Given the description of an element on the screen output the (x, y) to click on. 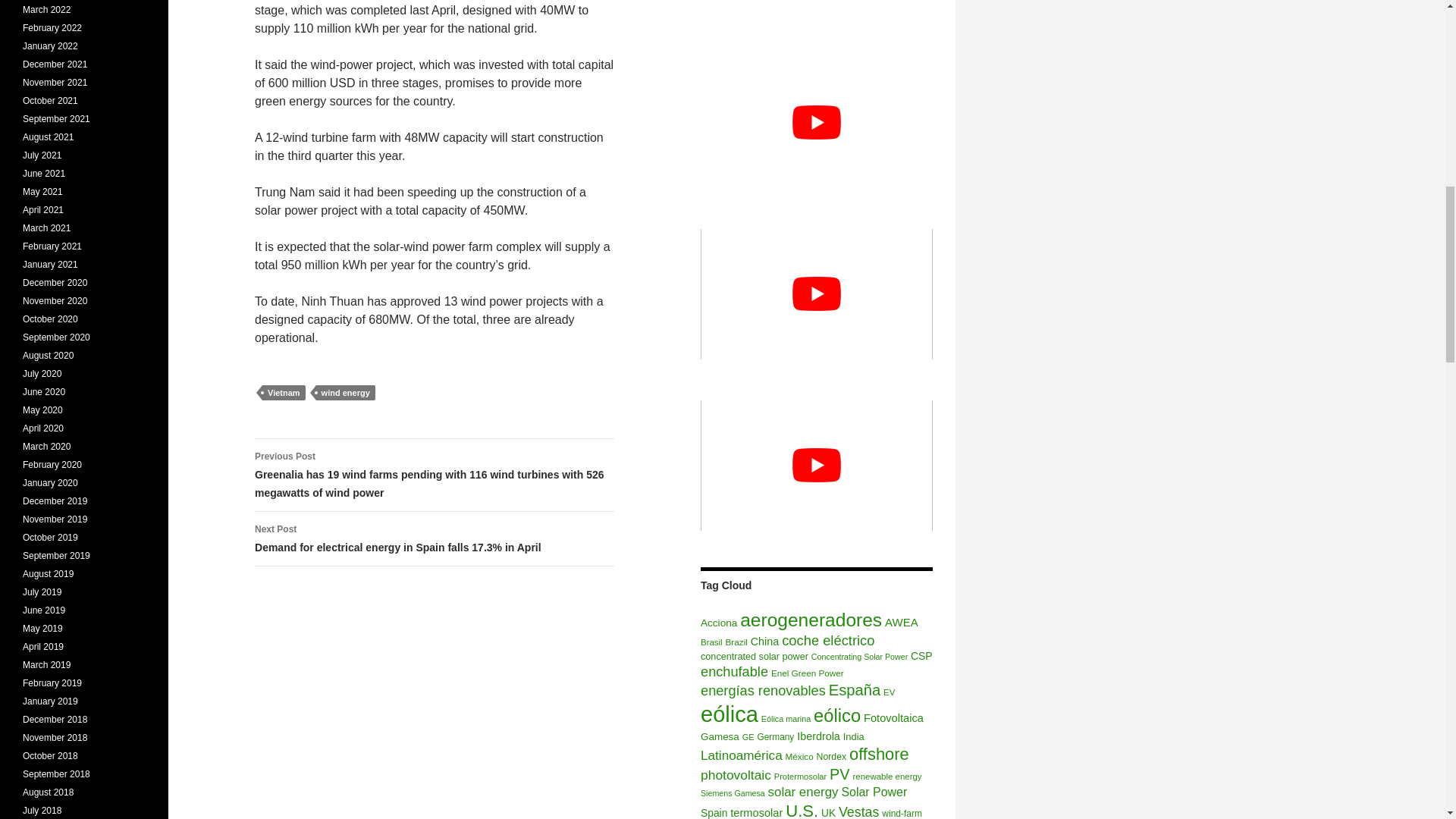
wind energy (345, 392)
aerogeneradores (810, 619)
Vietnam (283, 392)
AWEA (901, 621)
Acciona (718, 622)
